Given the description of an element on the screen output the (x, y) to click on. 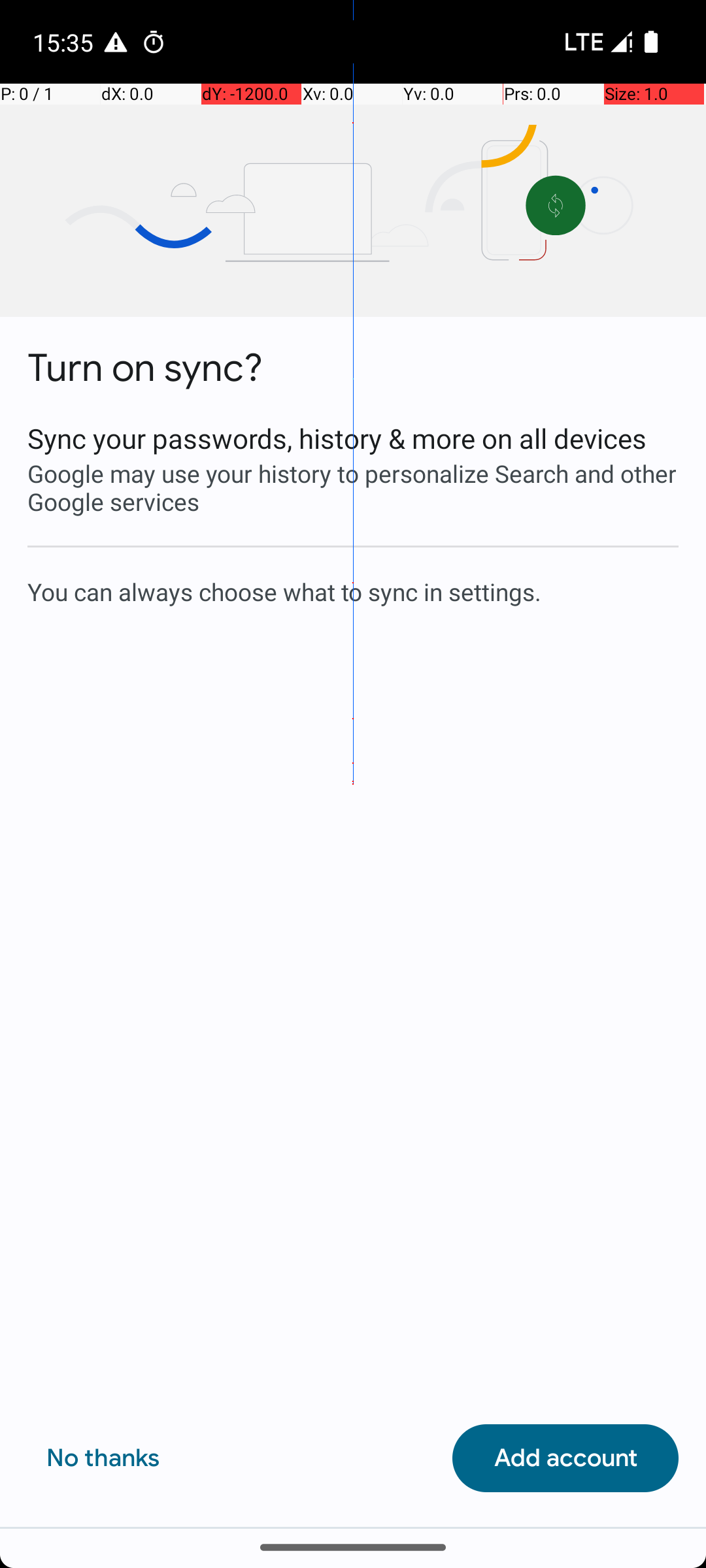
No thanks Element type: android.widget.Button (102, 1458)
Add account Element type: android.widget.Button (565, 1458)
Turn on sync? Element type: android.widget.TextView (144, 368)
Sync your passwords, history & more on all devices Element type: android.widget.TextView (352, 437)
Google may use your history to personalize Search and other Google services Element type: android.widget.TextView (352, 487)
You can always choose what to sync in settings. Element type: android.widget.TextView (352, 591)
15:35 Element type: android.widget.TextView (64, 41)
